Given the description of an element on the screen output the (x, y) to click on. 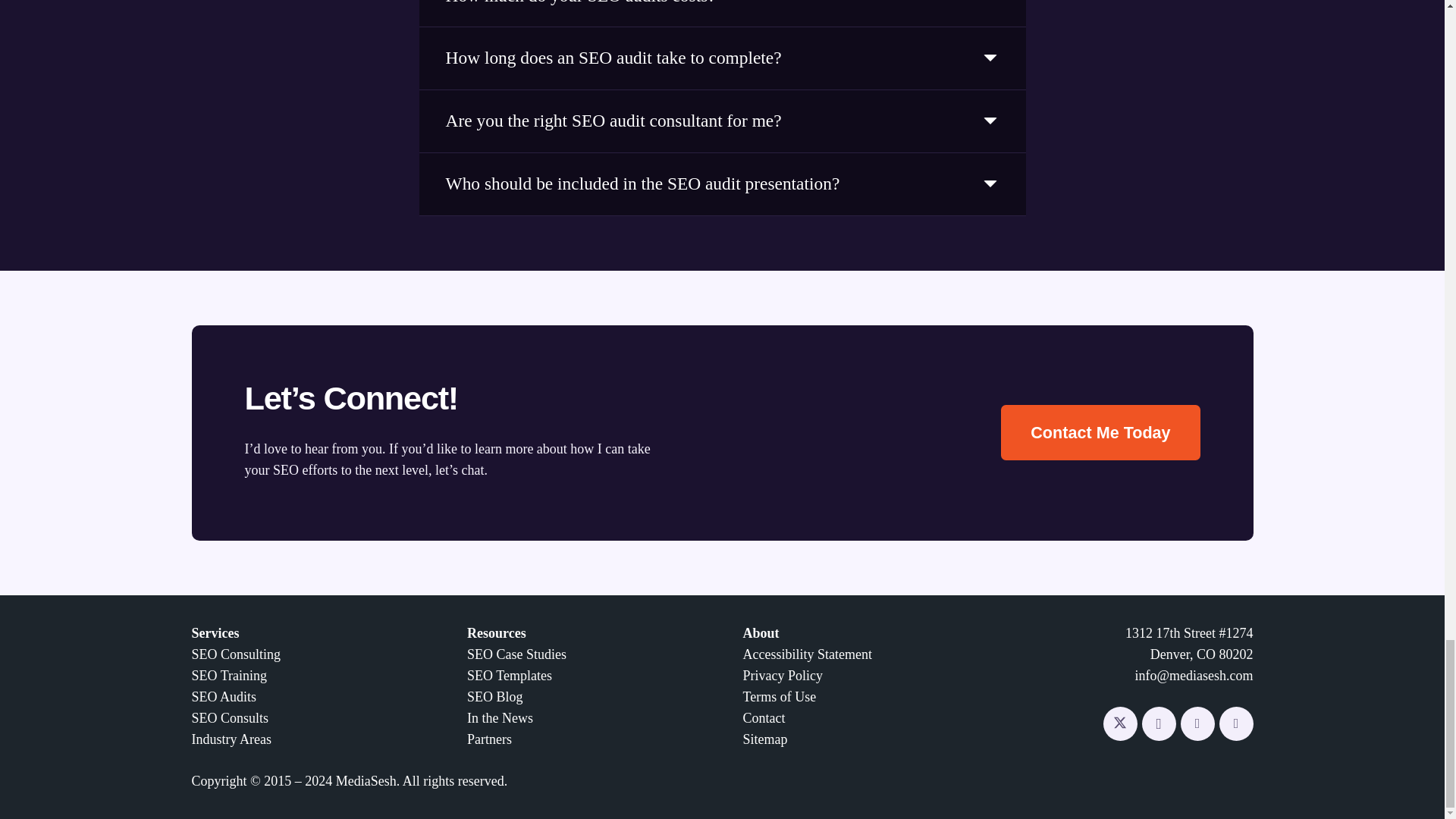
SEO Consults (228, 717)
SEO Templates (509, 675)
Services (214, 632)
YouTube (1236, 723)
Are you the right SEO audit consultant for me? (722, 121)
SEO Training (228, 675)
How much do your SEO audits costs? (722, 13)
Contact Me Today (1100, 432)
LinkedIn (1196, 723)
SEO Blog (494, 696)
Industry Areas (230, 739)
How long does an SEO audit take to complete? (722, 58)
Instagram (1158, 723)
Who should be included in the SEO audit presentation? (722, 184)
SEO Case Studies (516, 654)
